Given the description of an element on the screen output the (x, y) to click on. 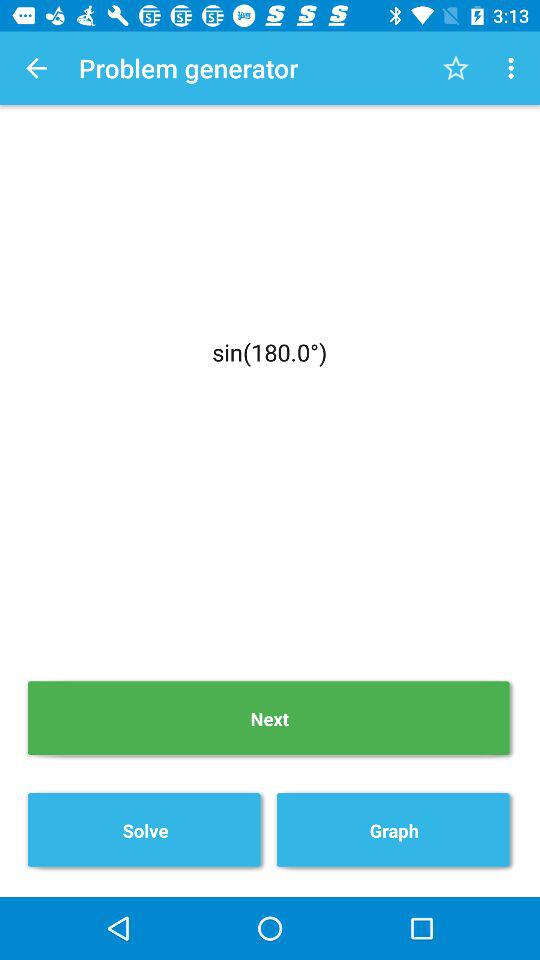
go back (36, 68)
